Given the description of an element on the screen output the (x, y) to click on. 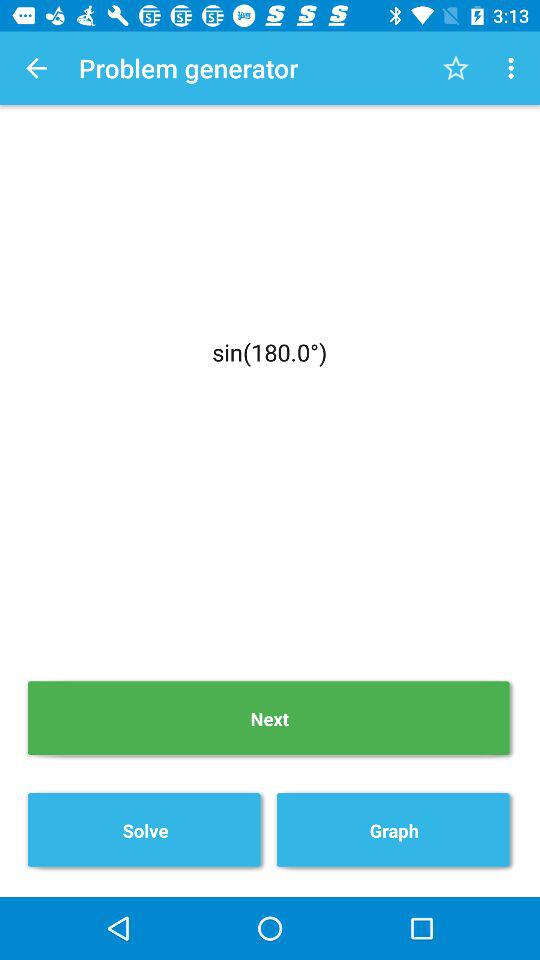
go back (36, 68)
